Given the description of an element on the screen output the (x, y) to click on. 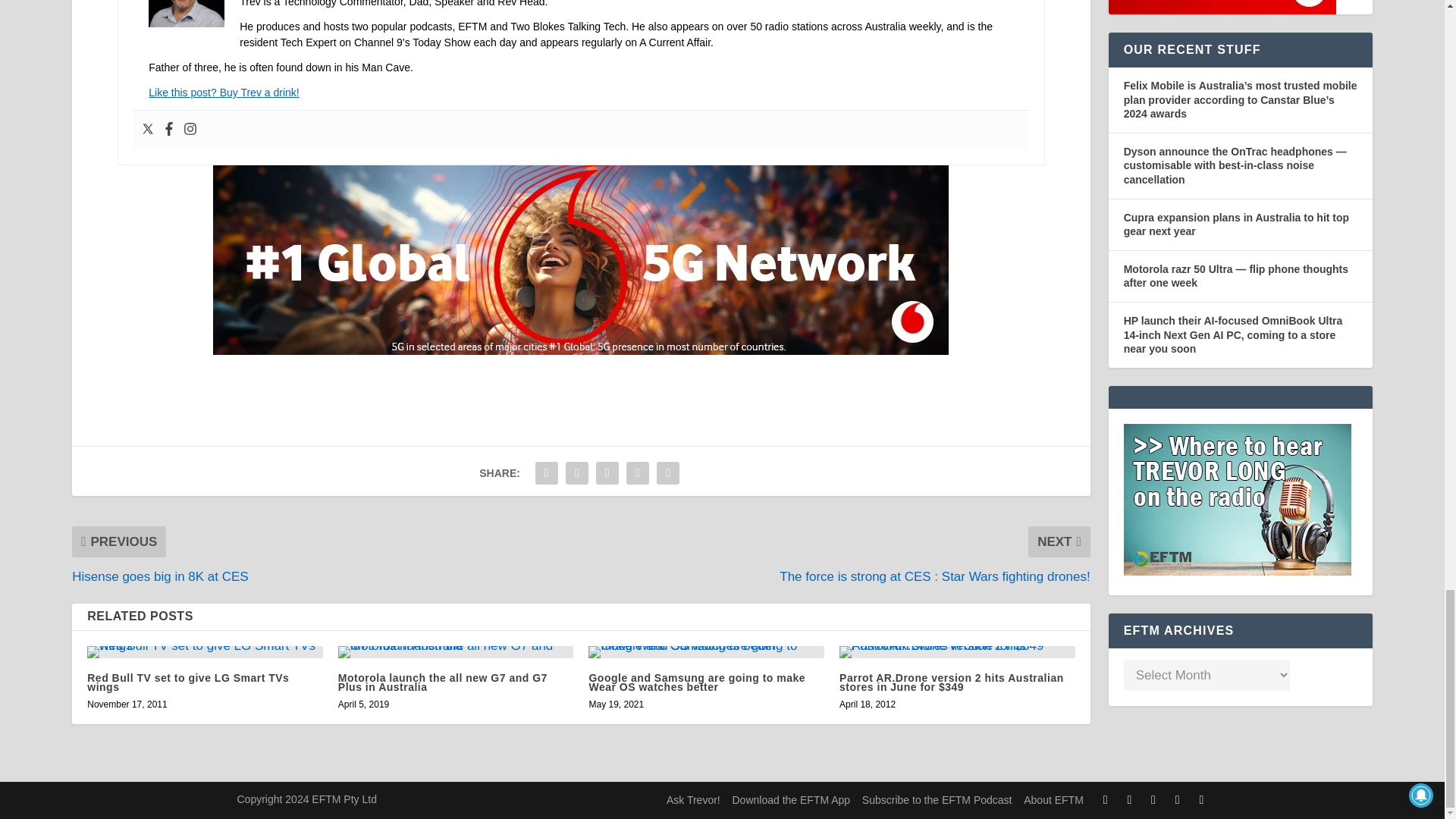
Facebook (168, 130)
Motorola launch the all new G7 and G7 Plus in Australia (455, 652)
Instagram (189, 130)
Twitter (147, 130)
Red Bull TV set to give LG Smart TVs wings (205, 652)
Google and Samsung are going to make Wear OS watches better (706, 652)
